Given the description of an element on the screen output the (x, y) to click on. 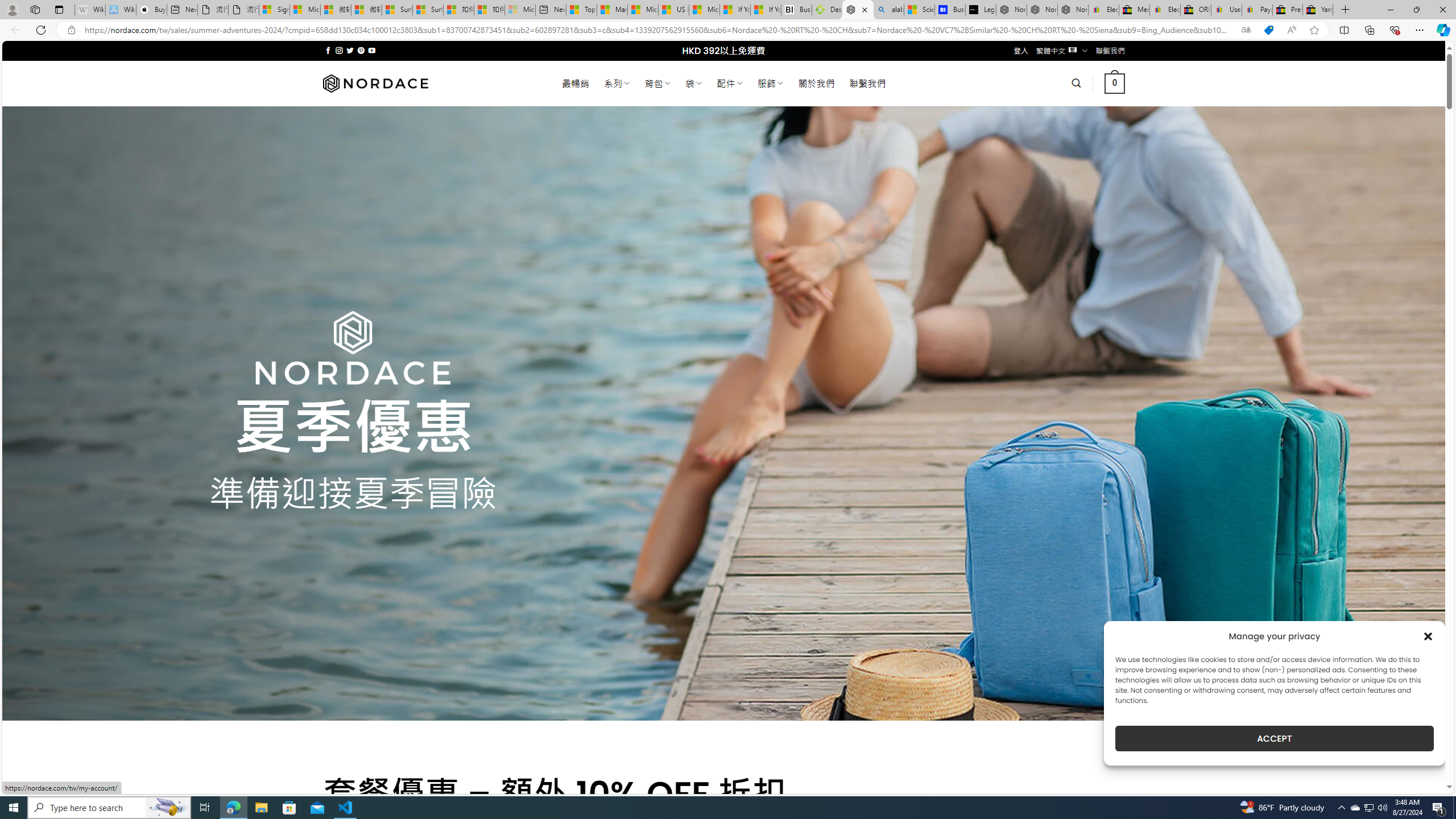
Follow on Twitter (349, 50)
Class: cmplz-close (1428, 636)
